Given the description of an element on the screen output the (x, y) to click on. 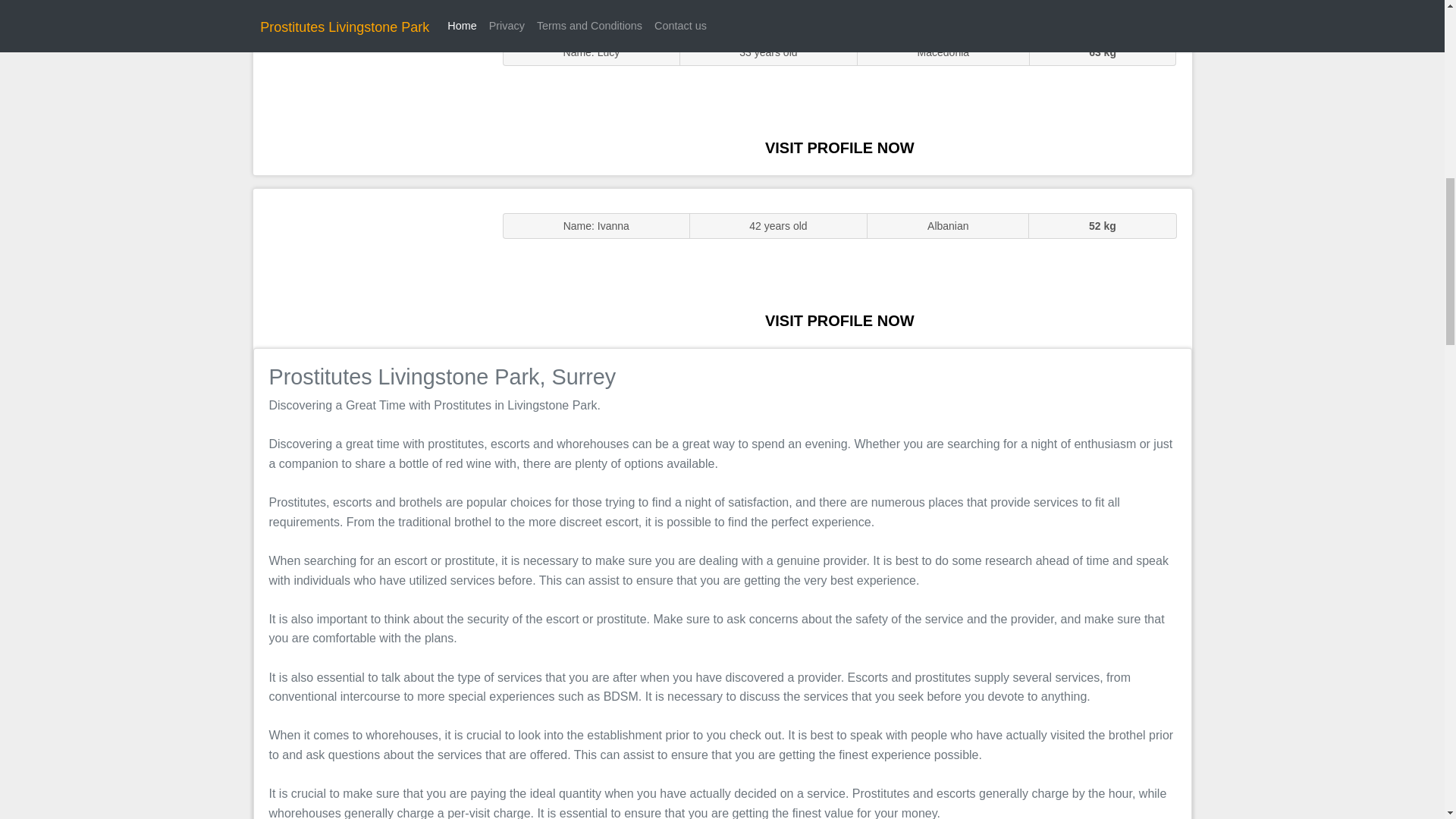
VISIT PROFILE NOW (839, 320)
VISIT PROFILE NOW (839, 147)
Massage (370, 267)
Sluts (370, 94)
